Given the description of an element on the screen output the (x, y) to click on. 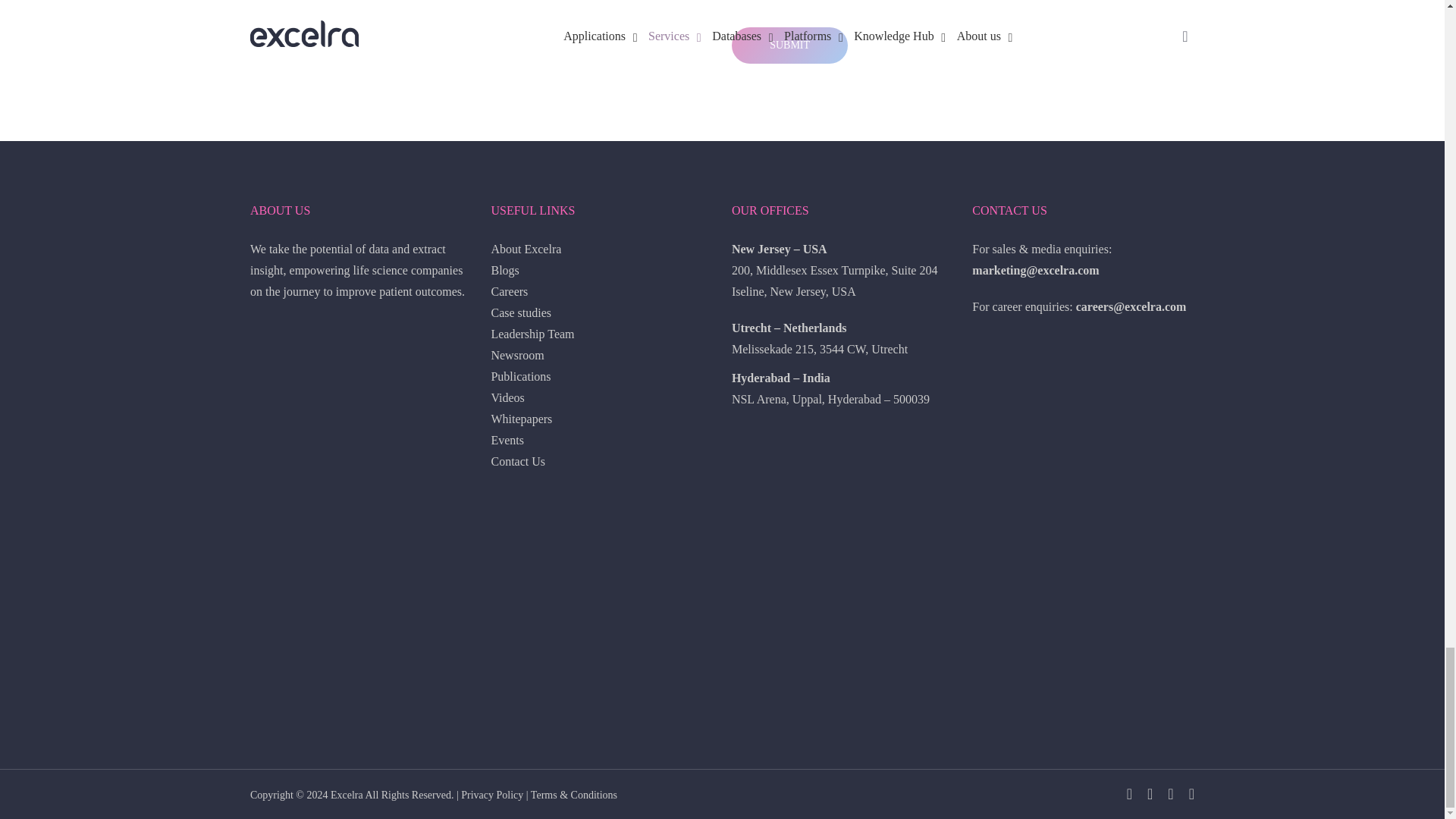
Submit (789, 45)
